Given the description of an element on the screen output the (x, y) to click on. 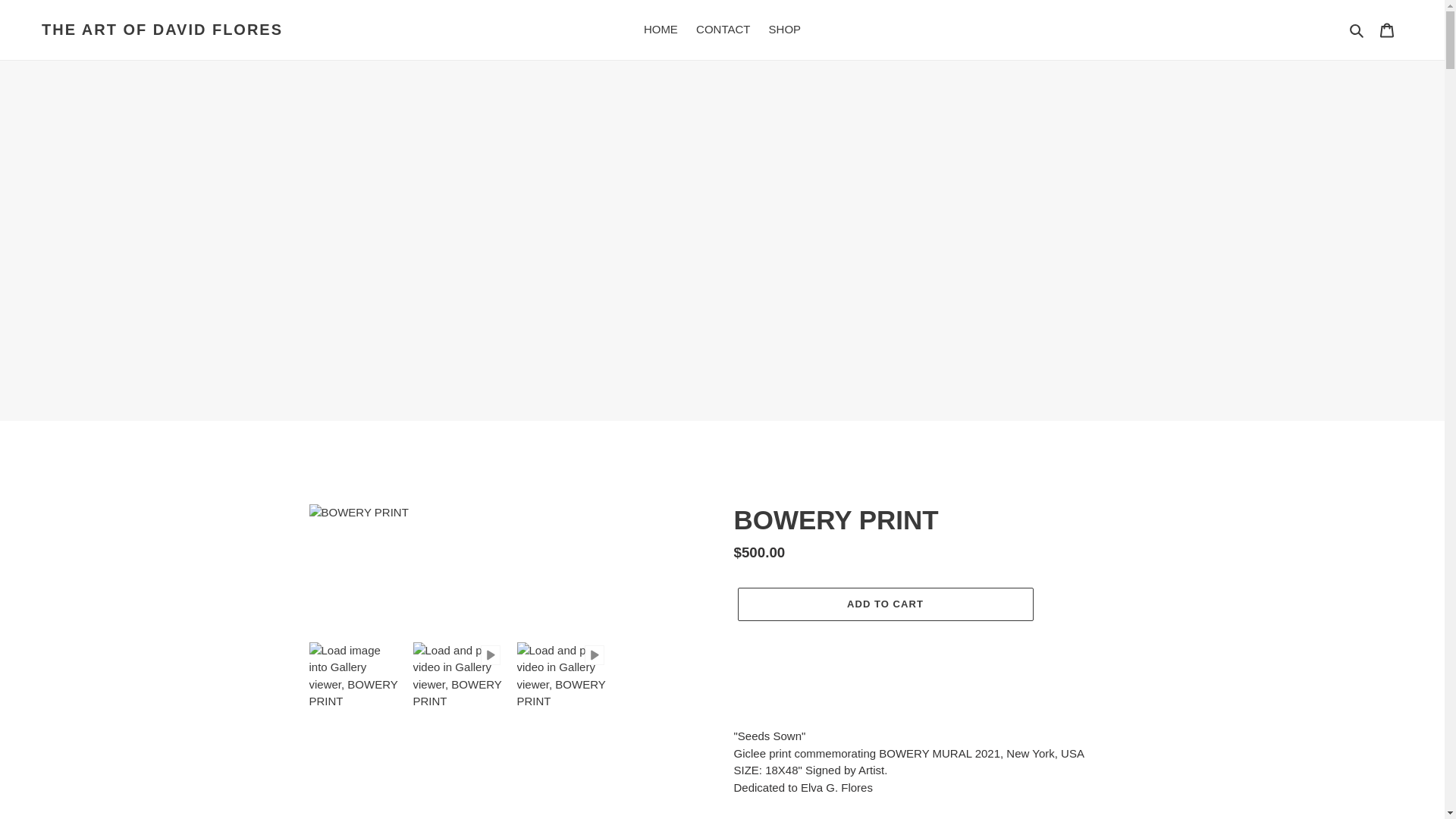
THE ART OF DAVID FLORES (162, 29)
Search (1357, 29)
HOME (660, 29)
SHOP (785, 29)
Cart (1387, 29)
ADD TO CART (884, 604)
CONTACT (722, 29)
